Given the description of an element on the screen output the (x, y) to click on. 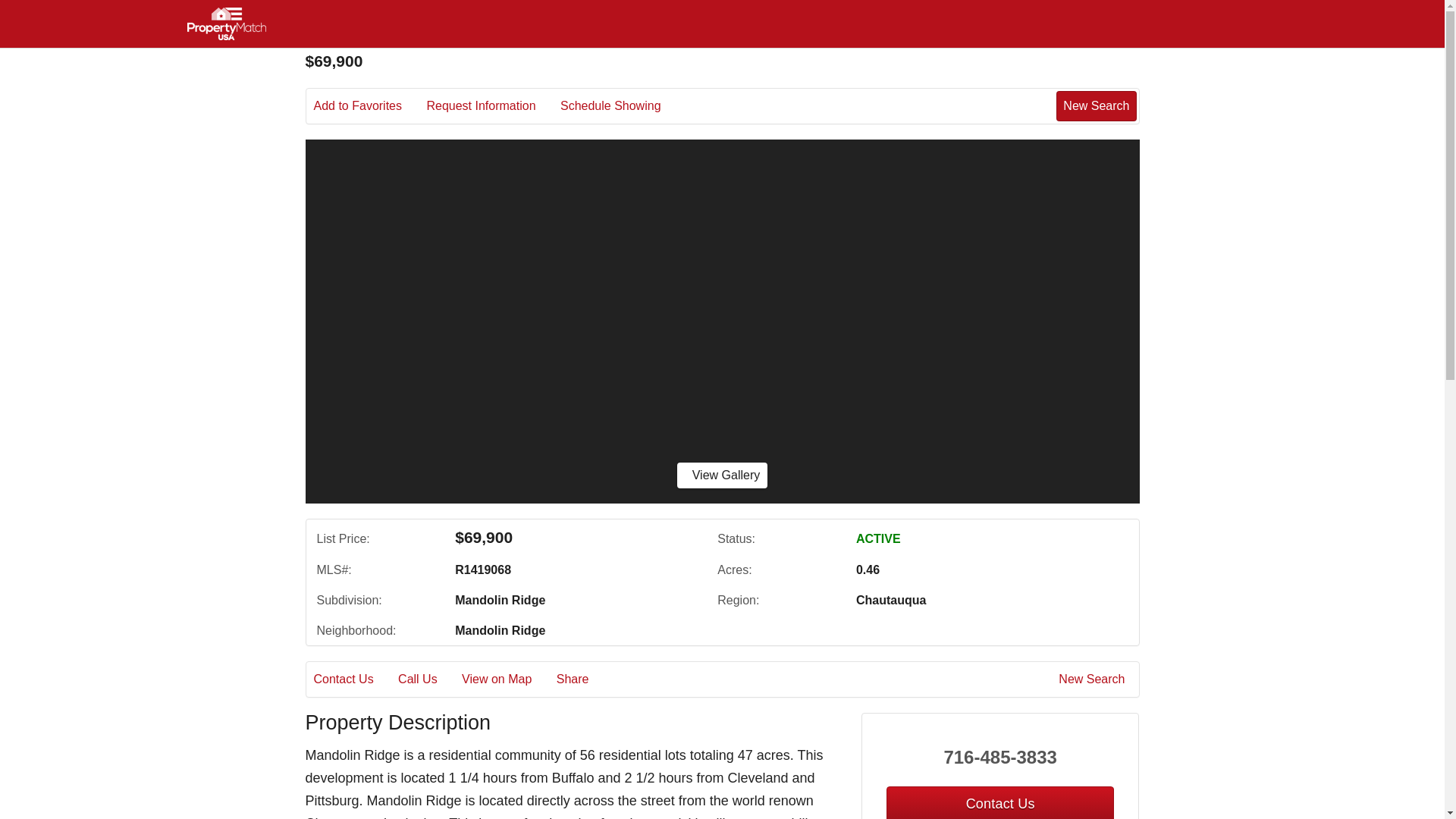
New Search (1094, 679)
Schedule Showing (621, 106)
View on Map (507, 679)
Add to Favorites (368, 106)
View Gallery (722, 475)
New Search (1096, 105)
View Gallery (722, 474)
Call Us (427, 679)
Share (583, 679)
Contact Us (354, 679)
Request Information (491, 106)
